Given the description of an element on the screen output the (x, y) to click on. 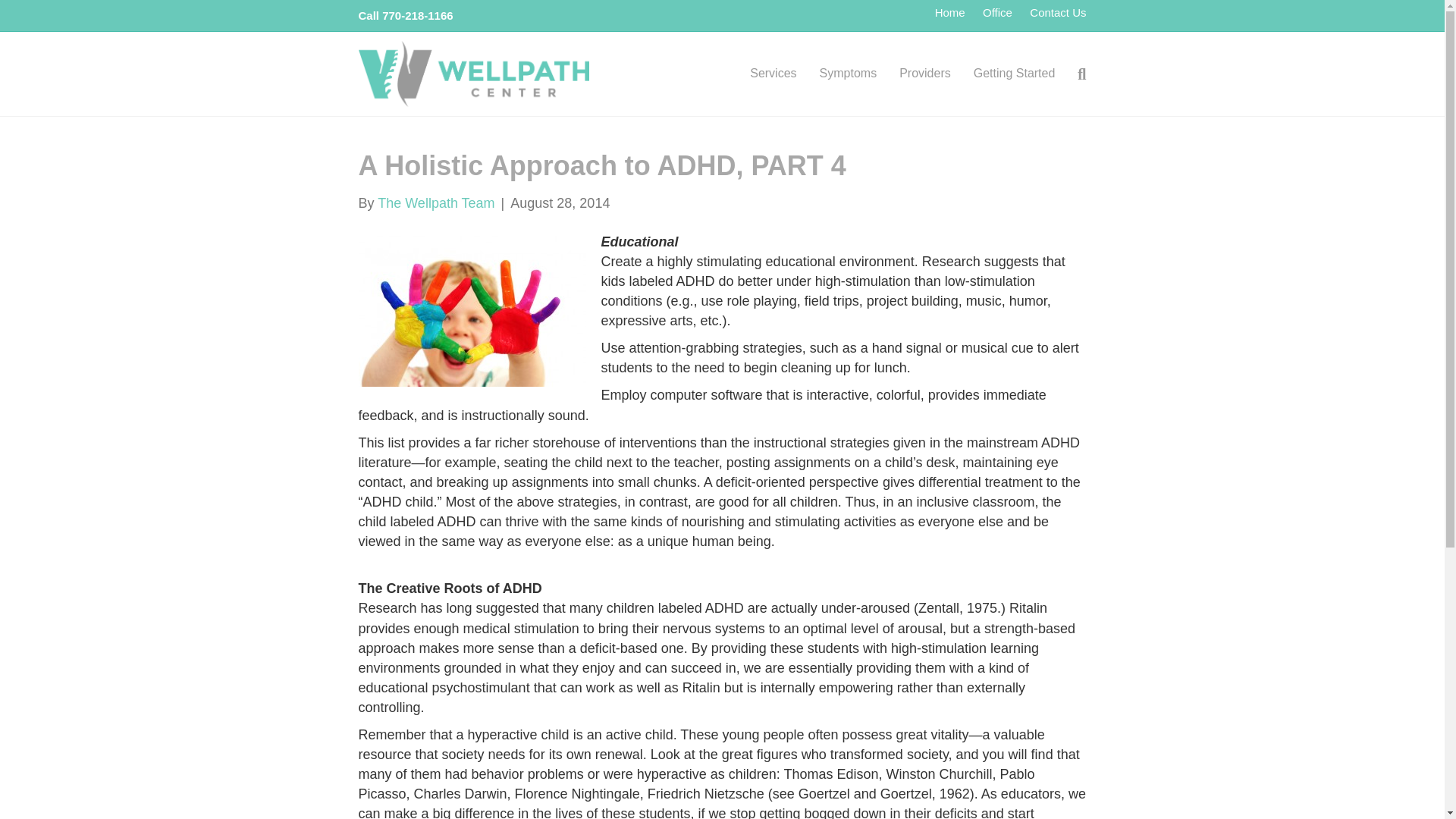
Office (997, 13)
Home (949, 13)
Getting Started (1014, 73)
Symptoms (848, 73)
The Wellpath Team (436, 202)
Providers (925, 73)
Services (773, 73)
Contact Us (1057, 13)
